Given the description of an element on the screen output the (x, y) to click on. 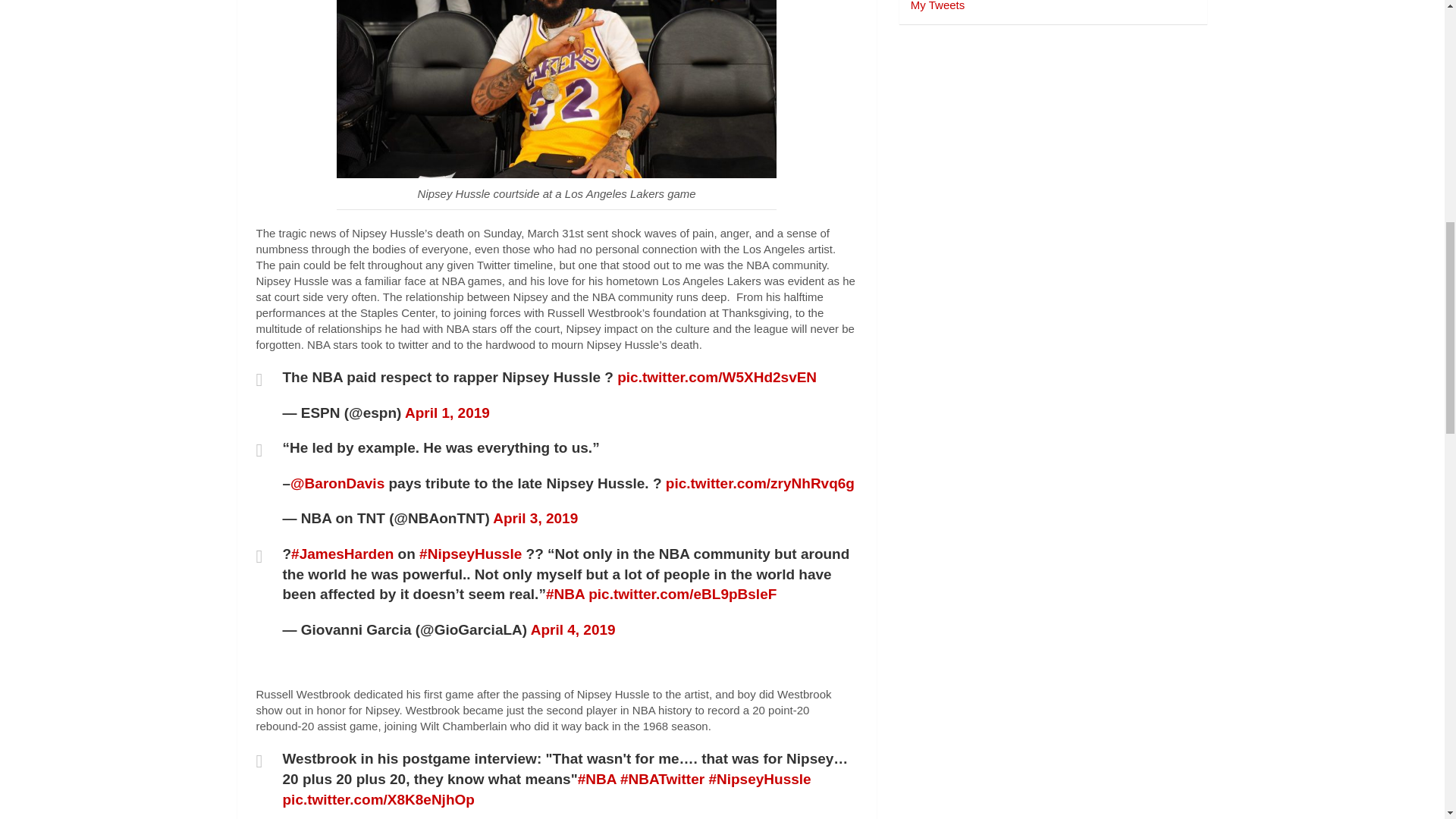
April 4, 2019 (573, 629)
April 1, 2019 (446, 412)
April 3, 2019 (535, 518)
